Given the description of an element on the screen output the (x, y) to click on. 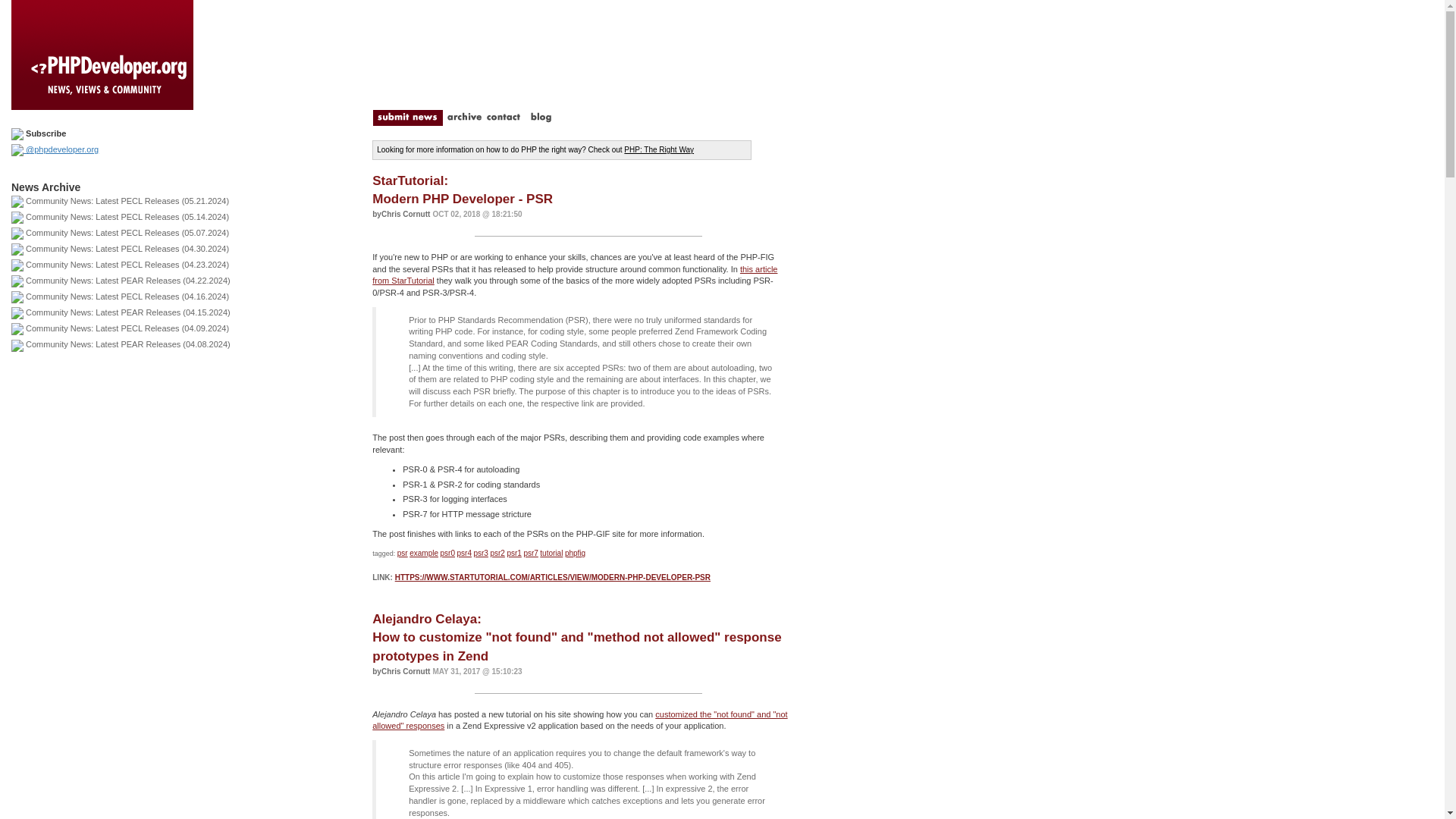
example (423, 552)
tutorial (551, 552)
PHP: The Right Way (659, 149)
psr4 (463, 552)
psr3 (480, 552)
psr (402, 552)
psr1 (513, 552)
customized the "not found" and "not allowed" responses (579, 720)
psr7 (529, 552)
phpfig (574, 552)
this article from StarTutorial (574, 274)
psr0 (462, 189)
psr2 (447, 552)
